Given the description of an element on the screen output the (x, y) to click on. 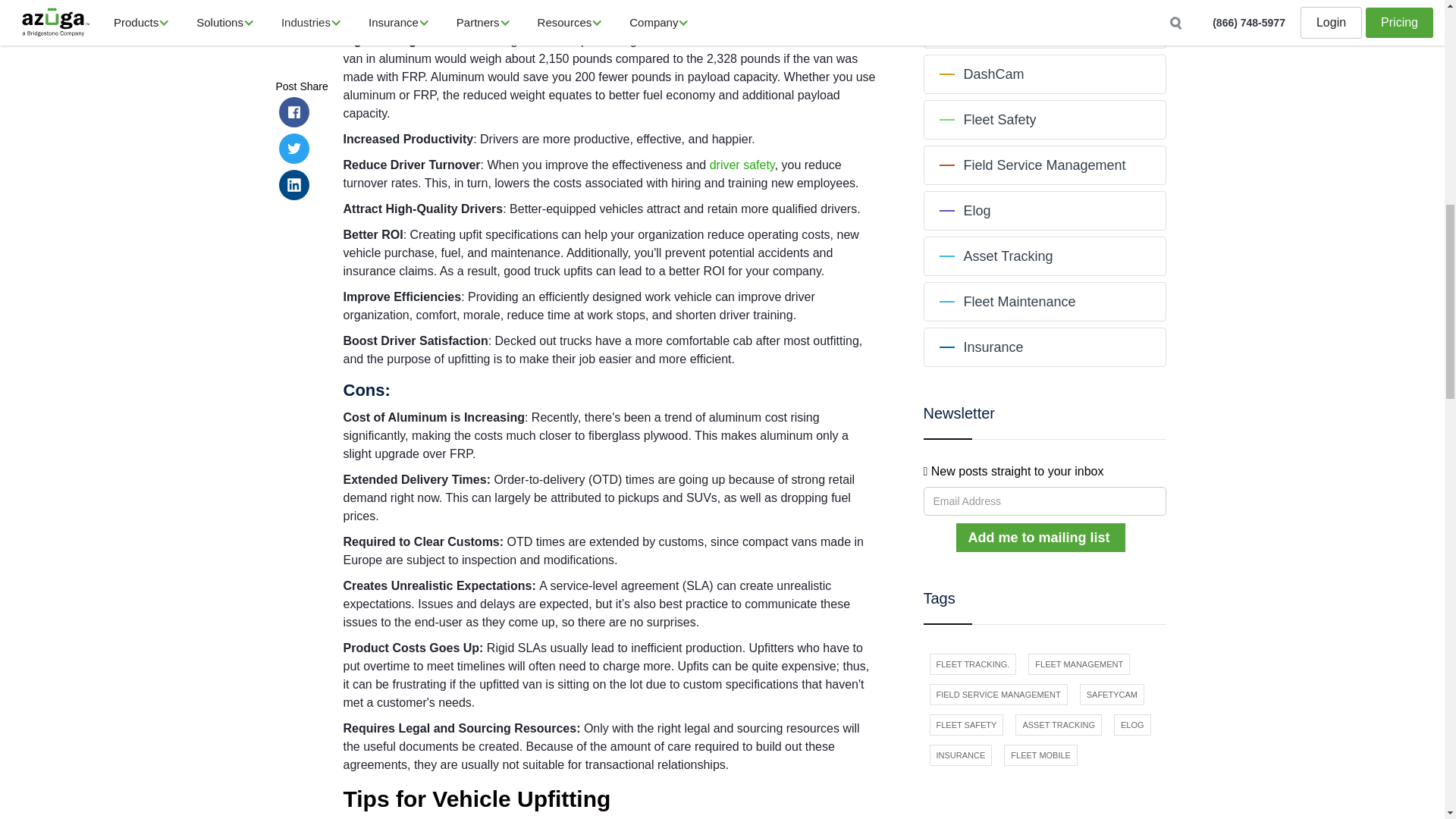
Add me to mailing list  (1040, 537)
